Given the description of an element on the screen output the (x, y) to click on. 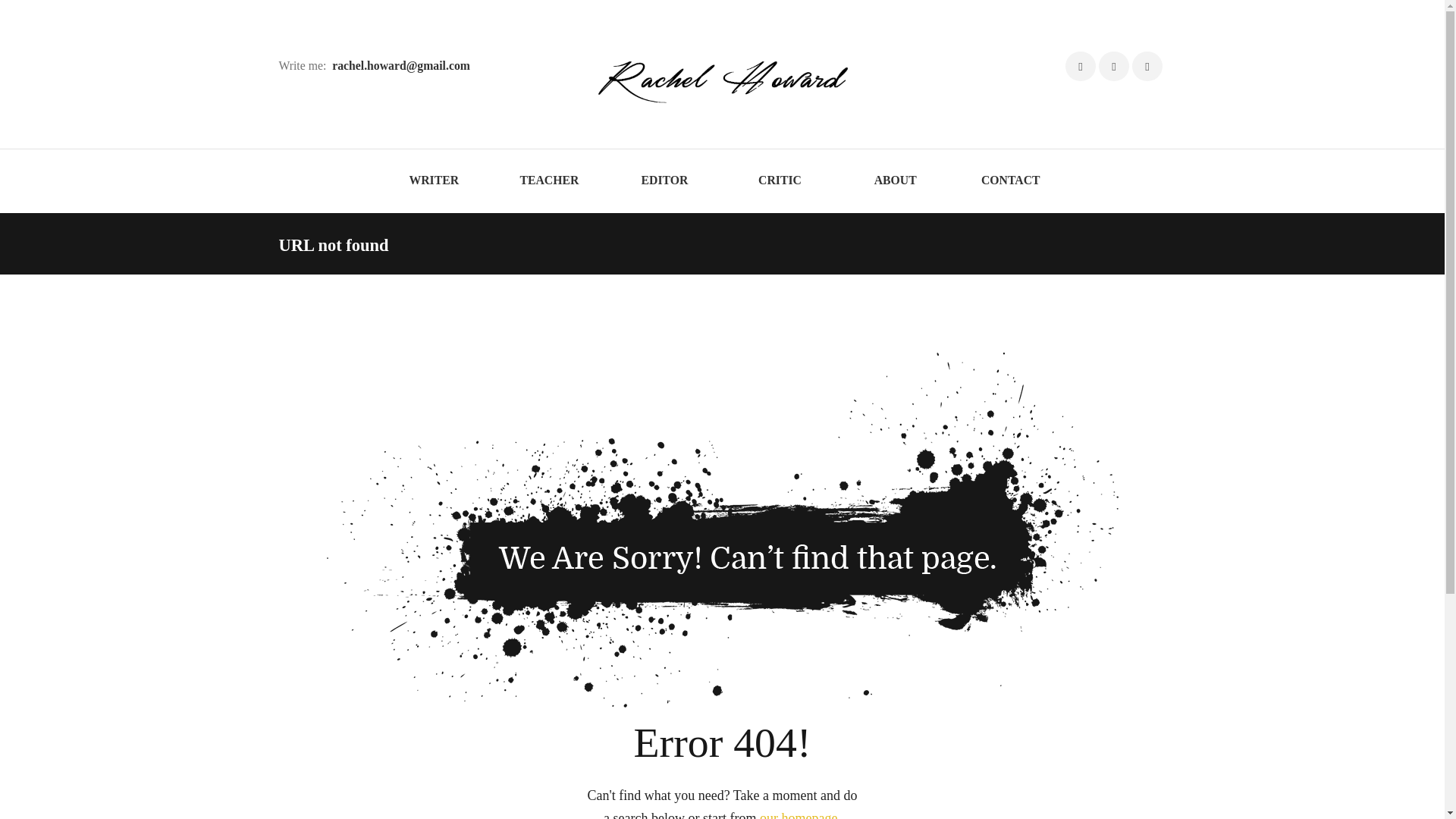
TEACHER (549, 180)
CRITIC (779, 180)
CONTACT (1010, 180)
ABOUT (895, 180)
EDITOR (664, 180)
WRITER (433, 180)
